Given the description of an element on the screen output the (x, y) to click on. 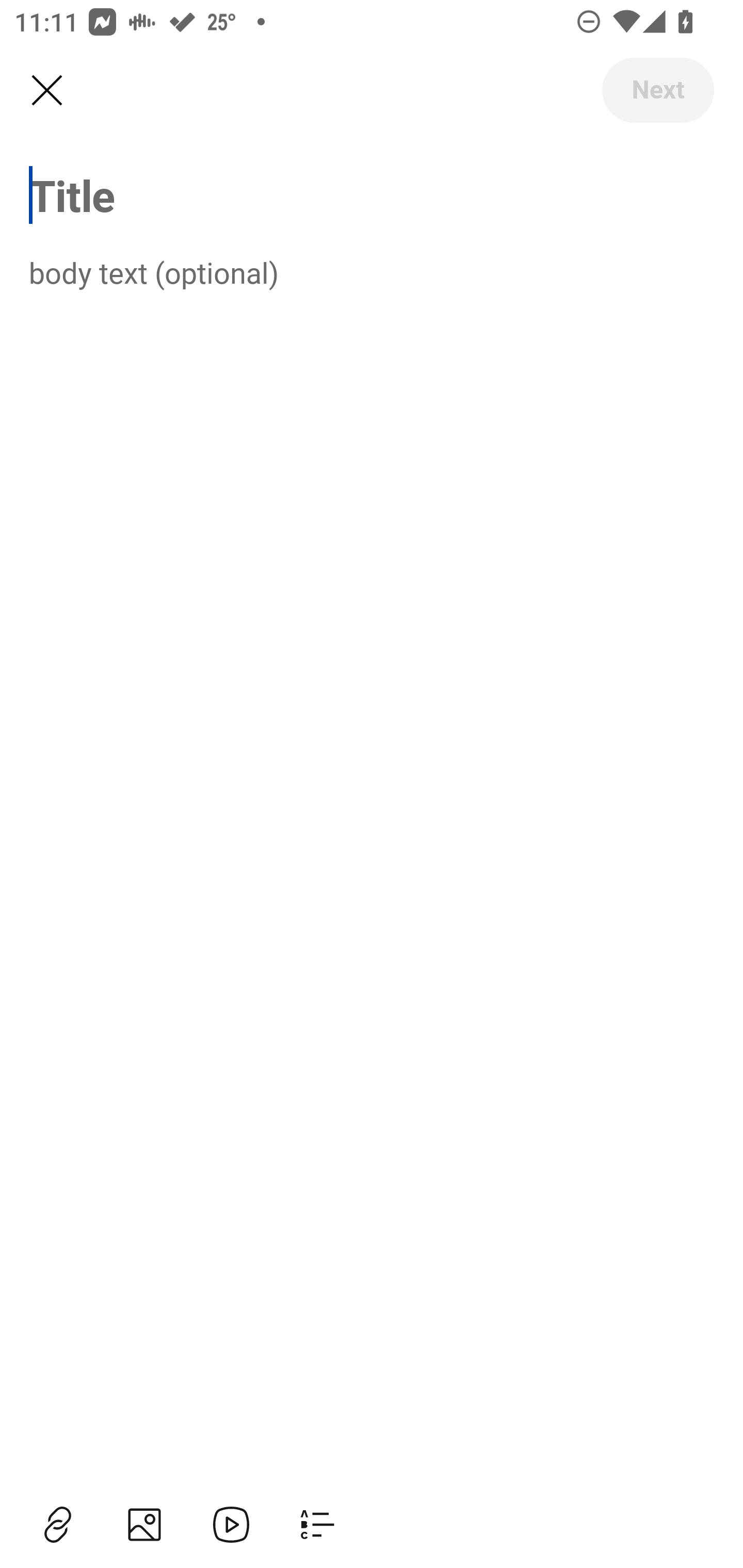
Close (46, 90)
Next (657, 90)
Post title (371, 195)
body text (optional) (371, 271)
